Given the description of an element on the screen output the (x, y) to click on. 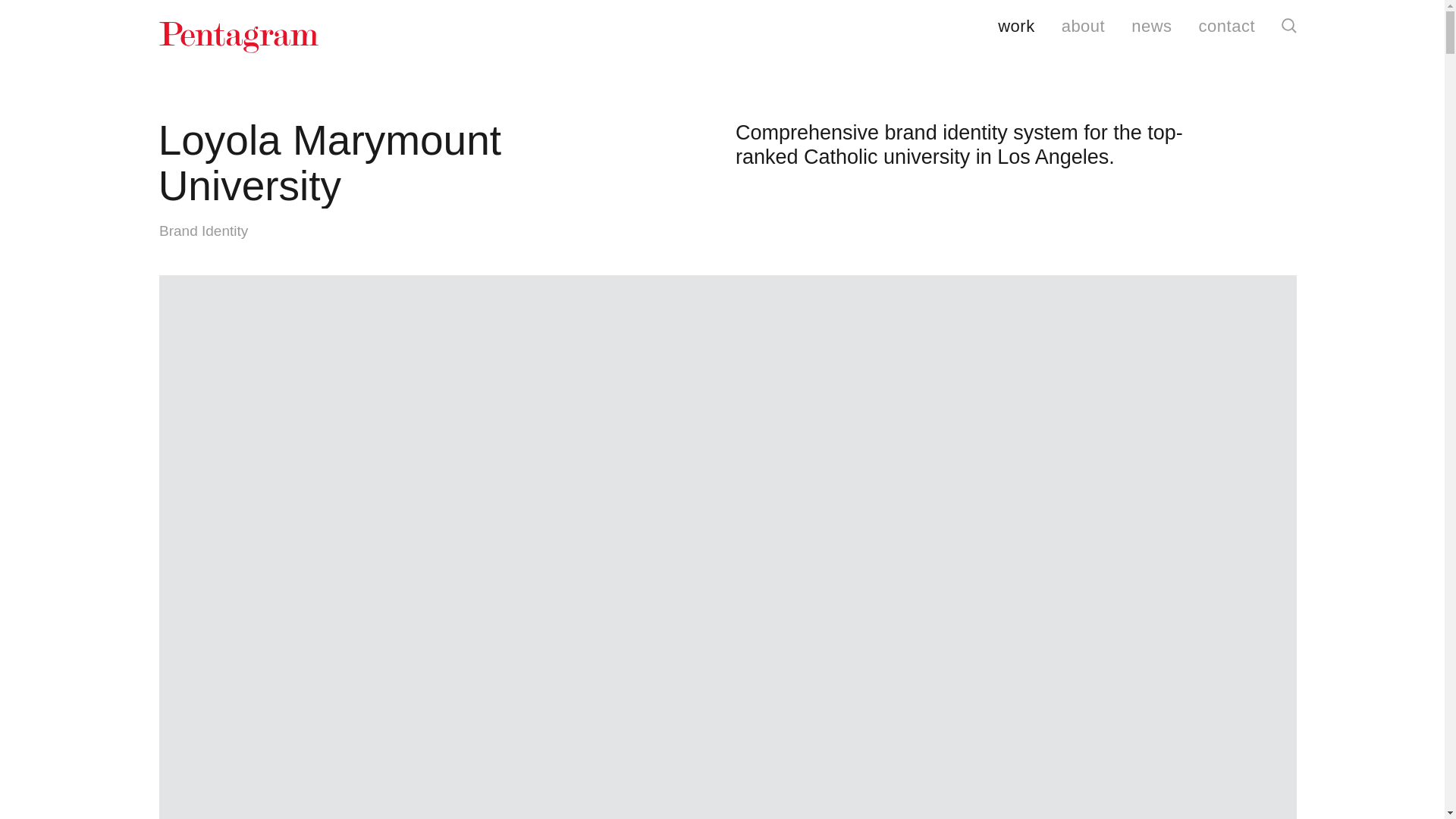
about (1083, 26)
contact (1226, 26)
news (1151, 26)
Search (1289, 25)
work (1015, 26)
Search (1289, 25)
